Given the description of an element on the screen output the (x, y) to click on. 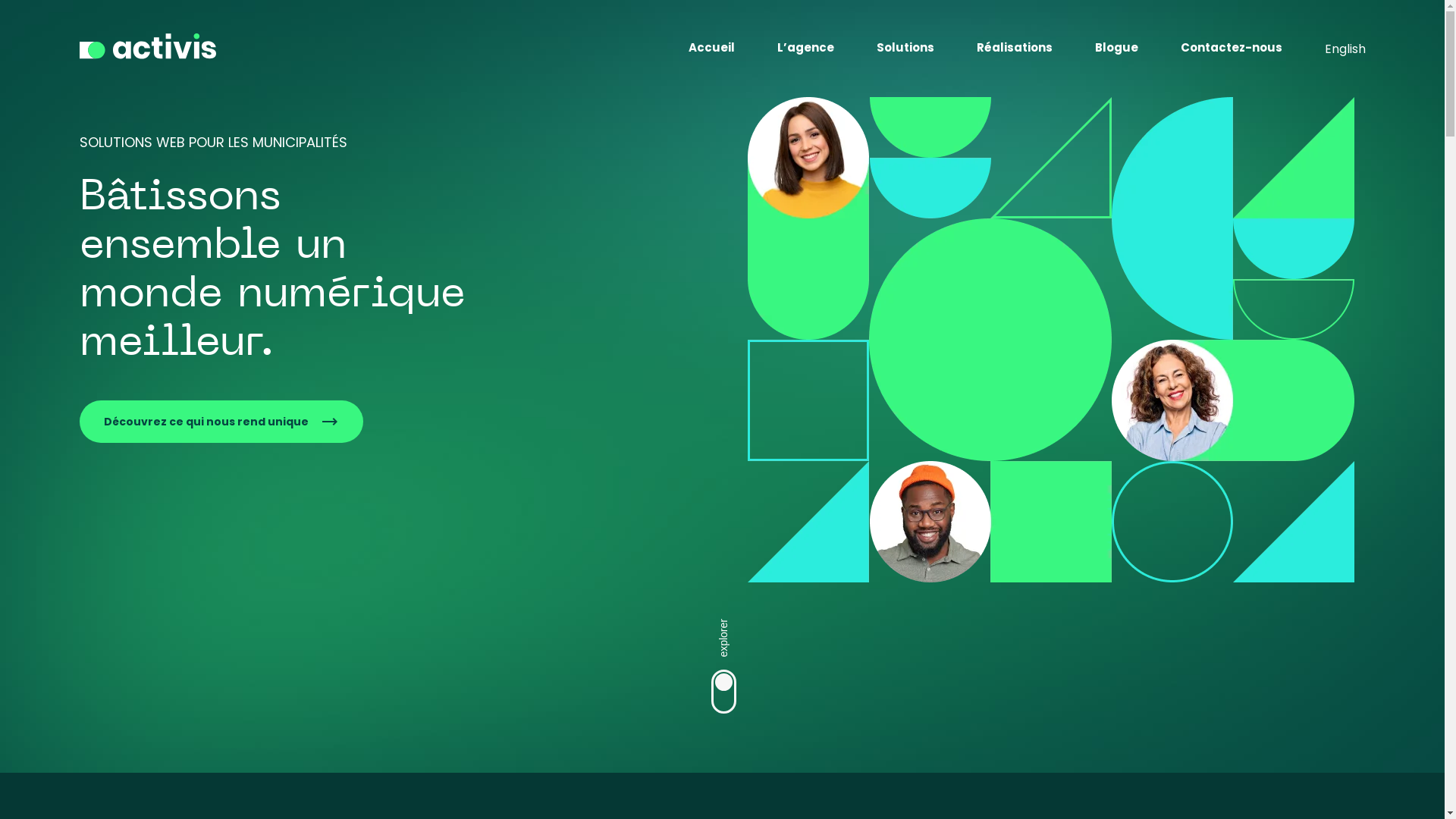
Solutions Element type: text (905, 50)
Accueil Element type: text (711, 50)
Blogue Element type: text (1116, 50)
English Element type: text (1344, 48)
Contactez-nous Element type: text (1230, 50)
